Given the description of an element on the screen output the (x, y) to click on. 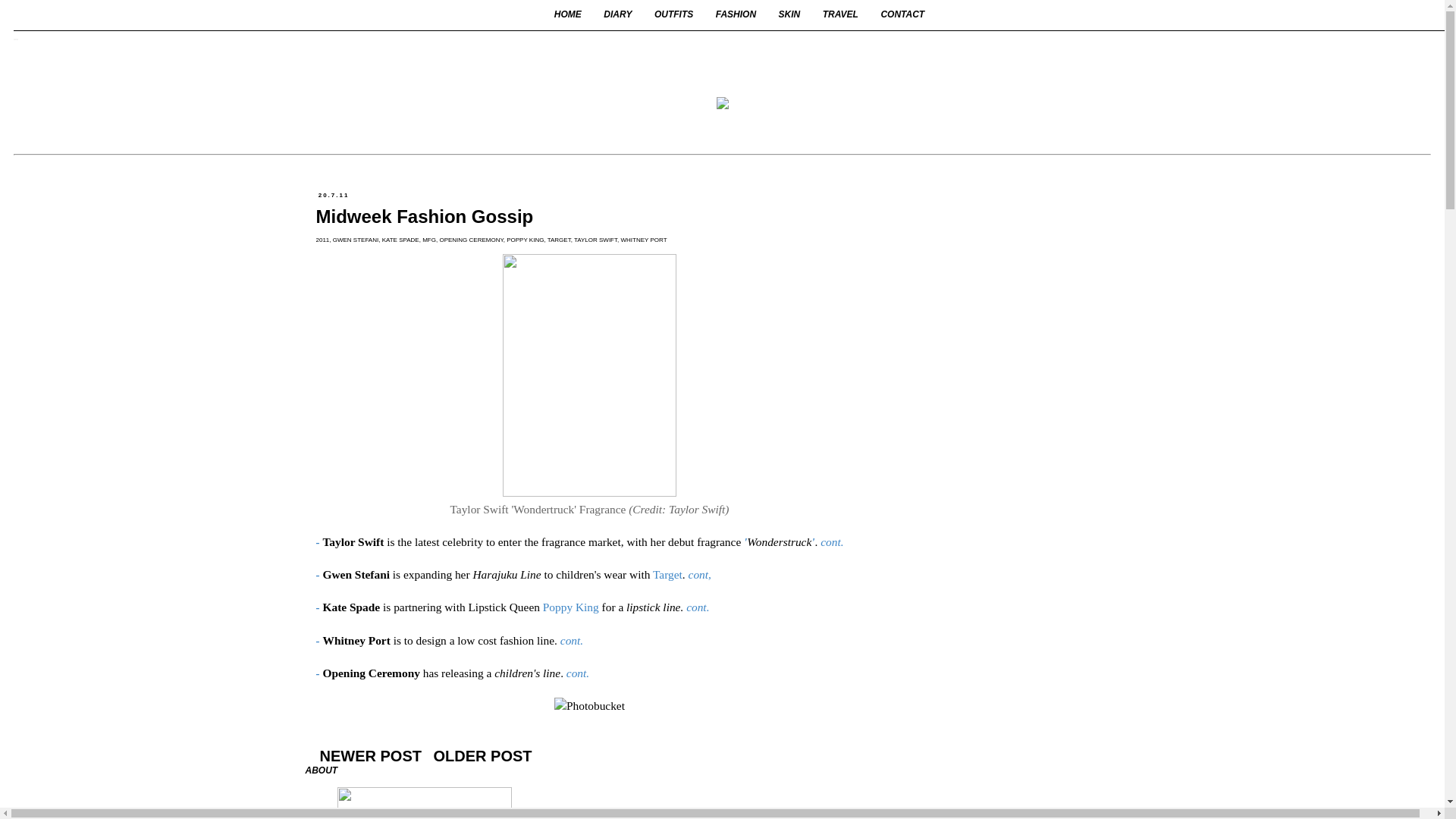
FASHION Element type: text (735, 14)
SKIN Element type: text (789, 14)
cont, Element type: text (699, 573)
TRAVEL Element type: text (840, 14)
POPPY KING Element type: text (524, 239)
WHITNEY PORT Element type: text (643, 239)
KATE SPADE Element type: text (400, 239)
MARTAN Element type: text (15, 39)
TARGET Element type: text (559, 239)
MFG Element type: text (429, 239)
NEWER POST Element type: text (369, 755)
2011 Element type: text (322, 239)
GWEN STEFANI Element type: text (355, 239)
cont. Element type: text (831, 541)
cont. Element type: text (697, 606)
OUTFITS Element type: text (673, 14)
CONTACT Element type: text (902, 14)
OLDER POST Element type: text (482, 755)
OPENING CEREMONY Element type: text (470, 239)
TAYLOR SWIFT Element type: text (595, 239)
cont. Element type: text (571, 639)
HOME Element type: text (568, 14)
cont. Element type: text (576, 672)
DIARY Element type: text (617, 14)
